Given the description of an element on the screen output the (x, y) to click on. 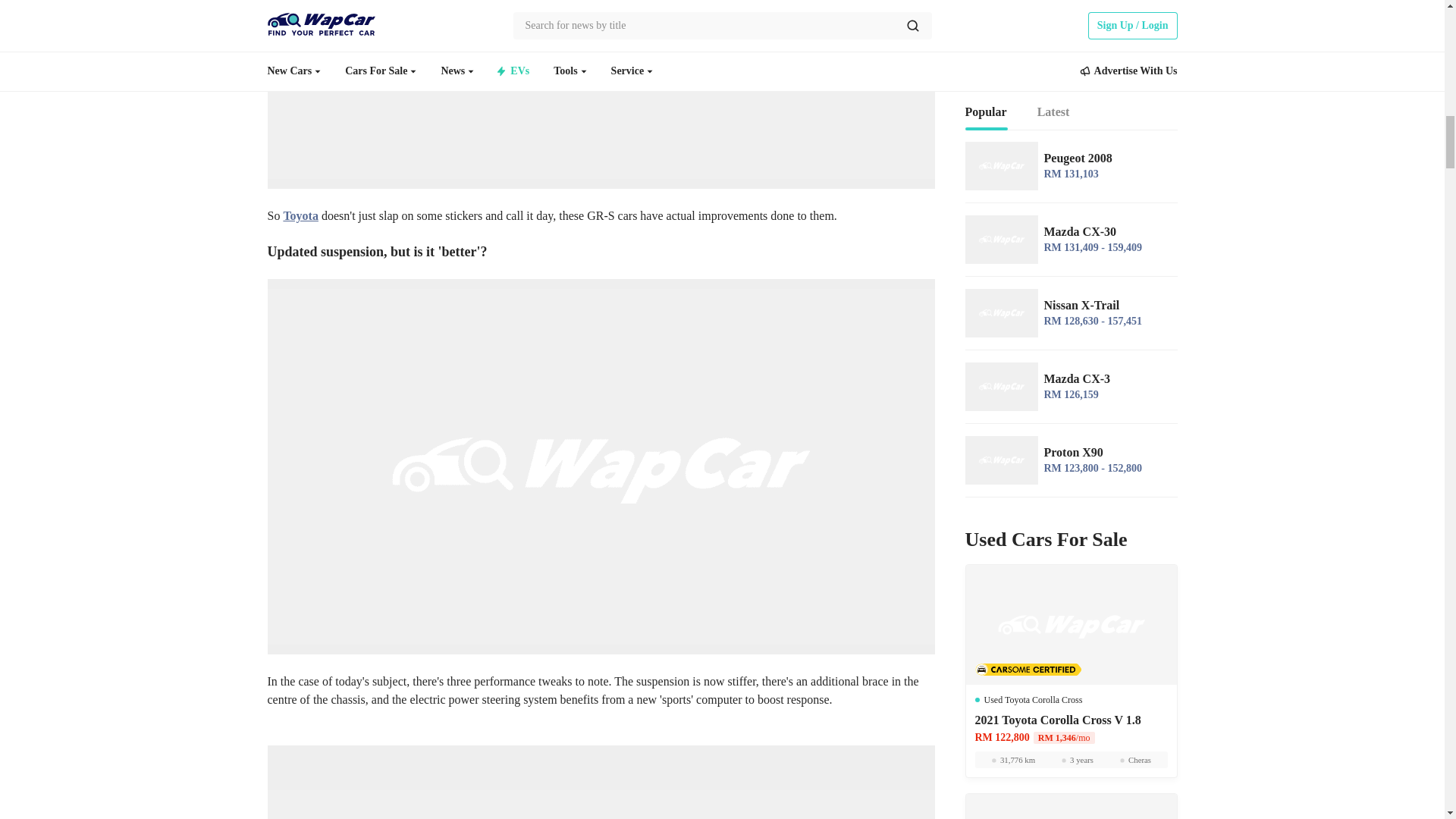
PopularLatest (1069, 112)
